Given the description of an element on the screen output the (x, y) to click on. 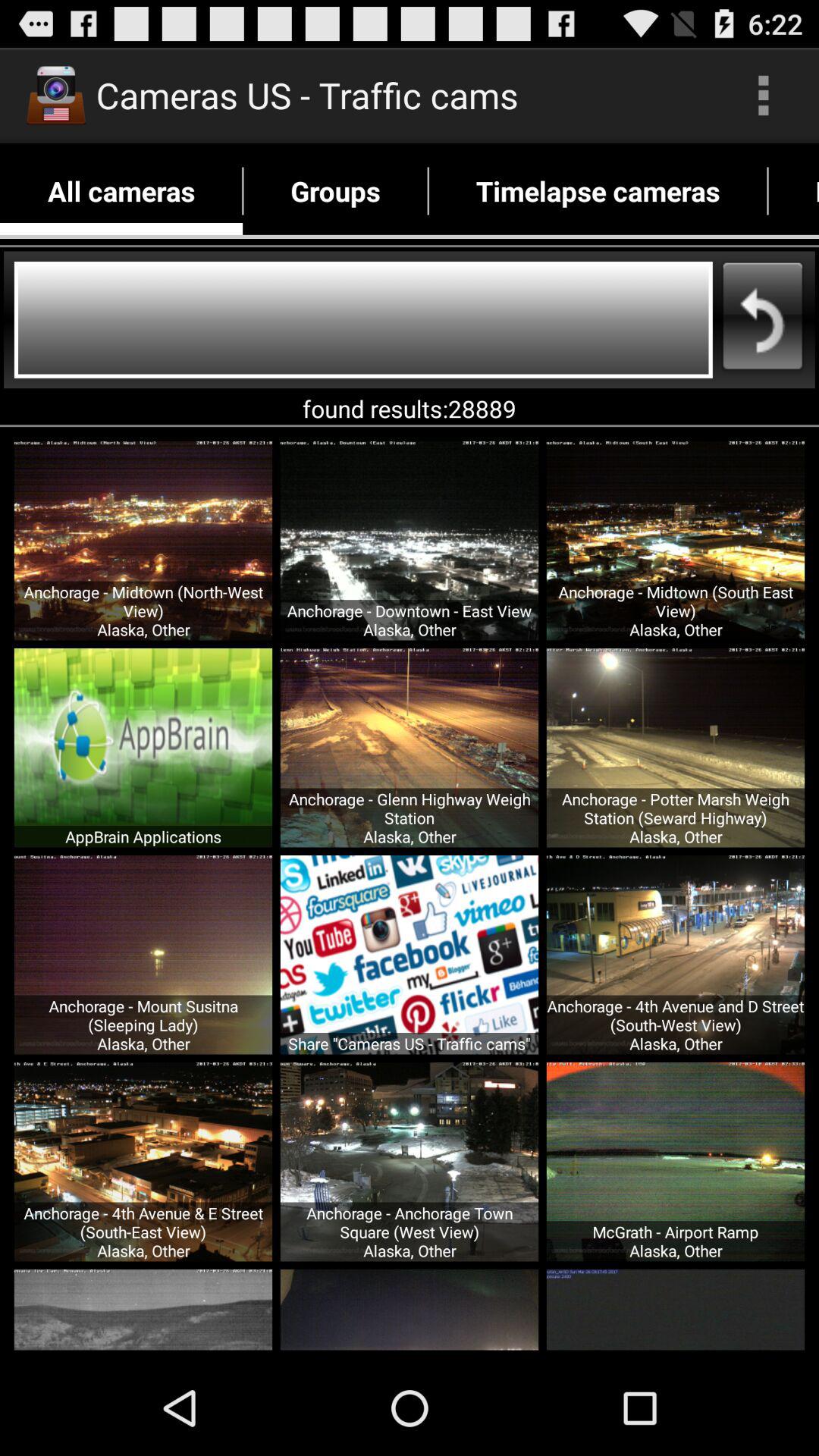
launch the app next to timelapse cameras item (793, 190)
